Given the description of an element on the screen output the (x, y) to click on. 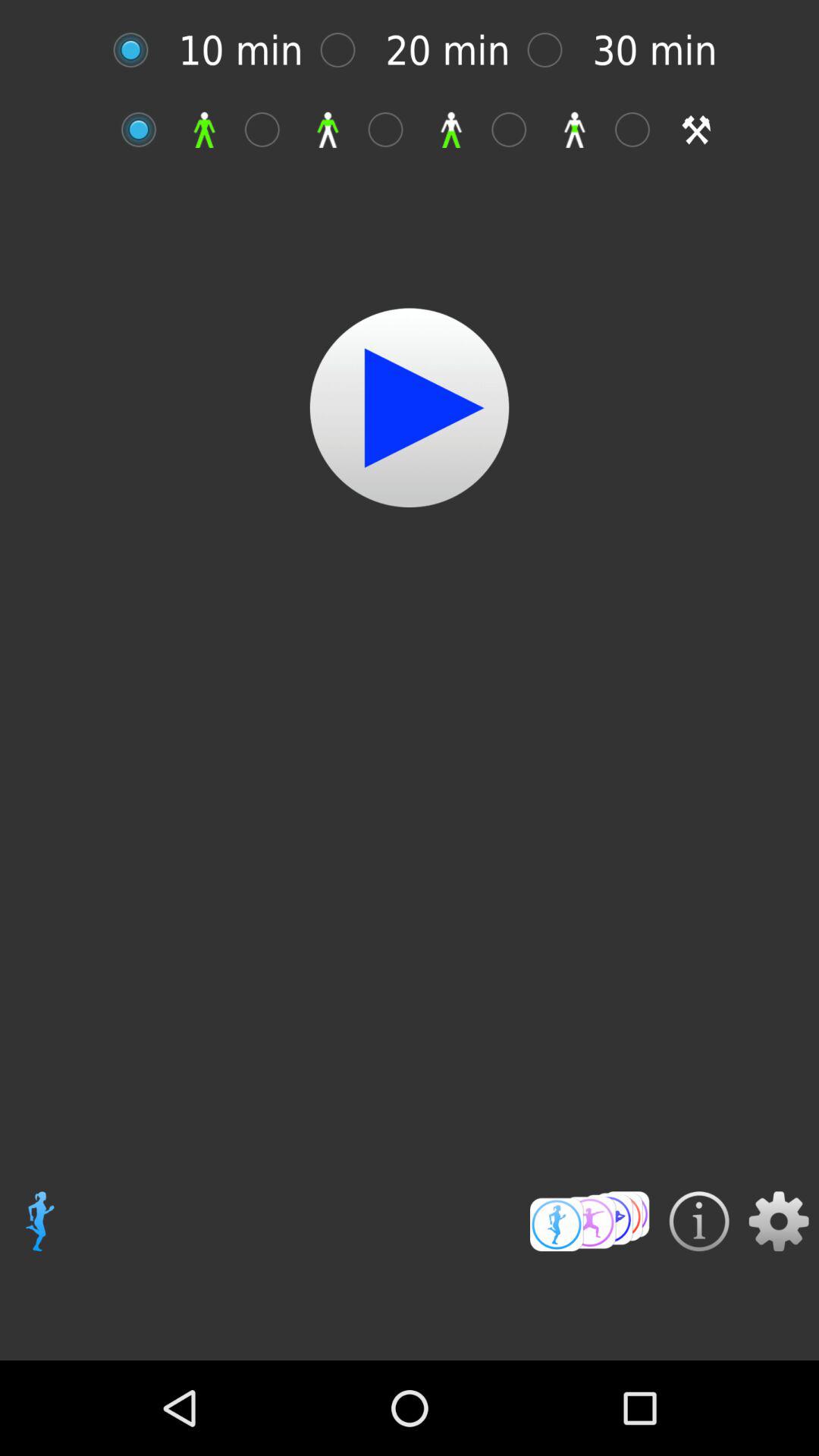
select minutes options (345, 49)
